Given the description of an element on the screen output the (x, y) to click on. 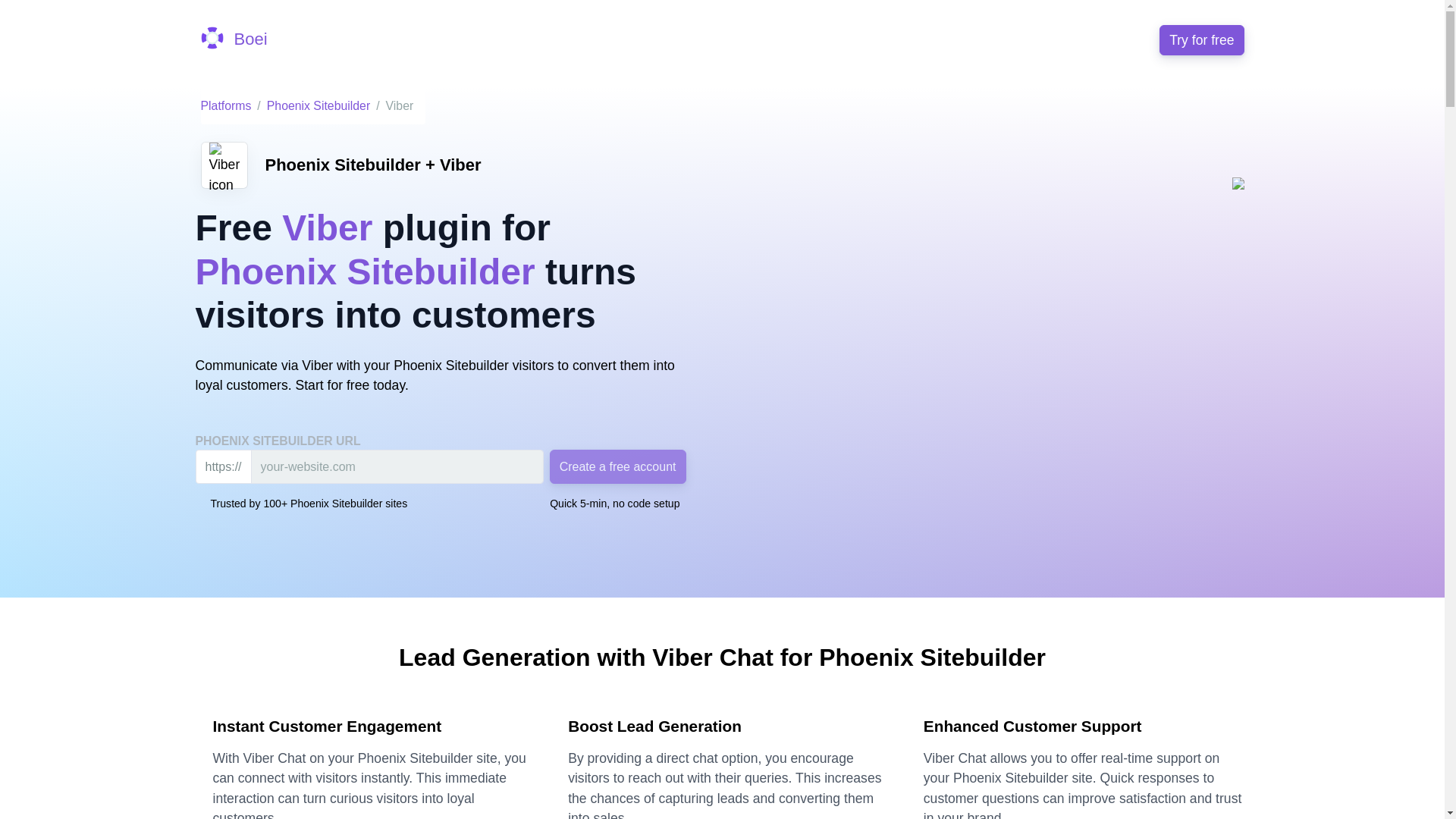
Try for free (1200, 40)
Boei (233, 39)
Create a free account (617, 466)
Platforms (225, 105)
Phoenix Sitebuilder (317, 105)
